Given the description of an element on the screen output the (x, y) to click on. 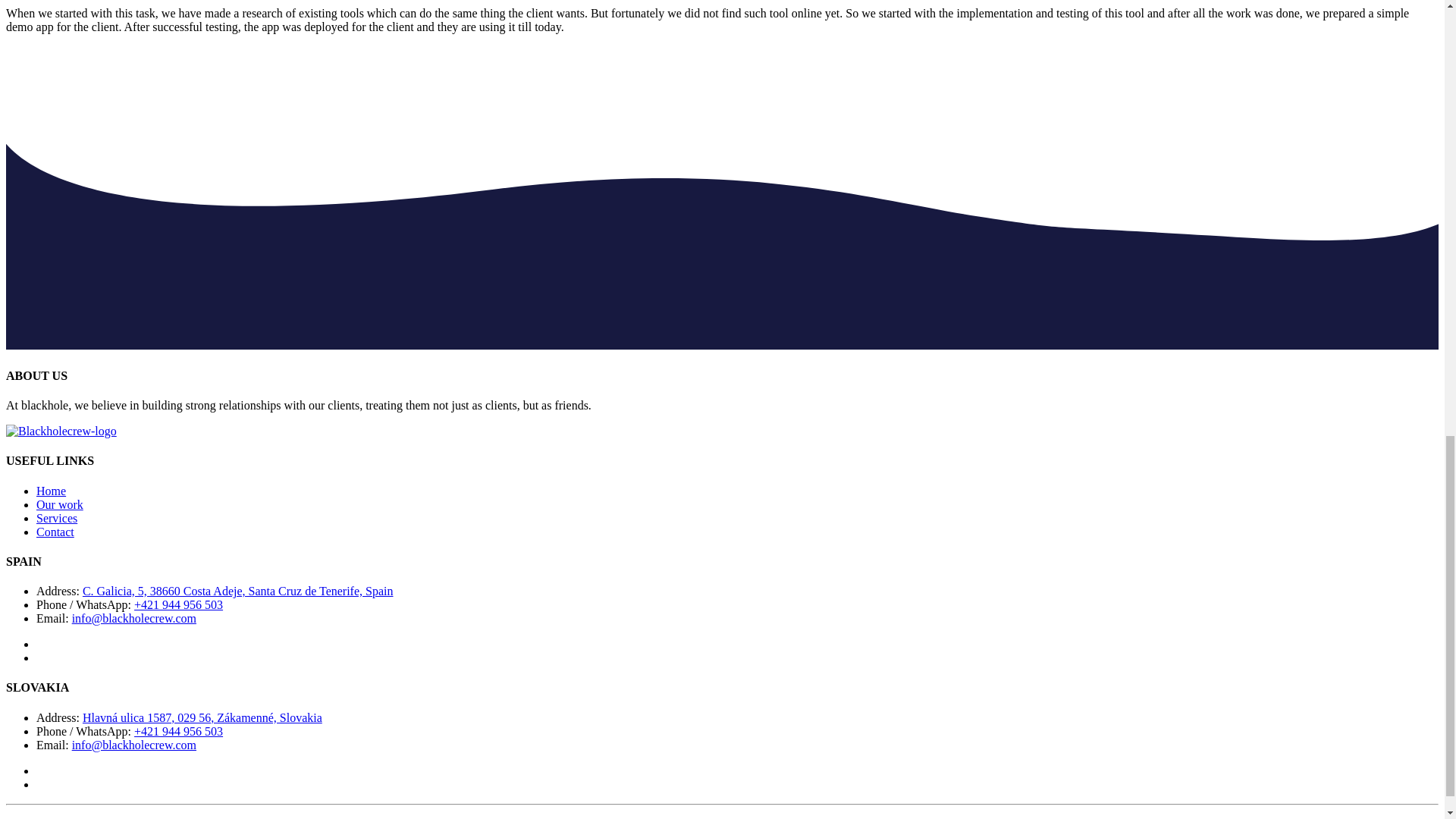
Our work (59, 504)
Home (50, 490)
Contact (55, 531)
Services (56, 517)
